Given the description of an element on the screen output the (x, y) to click on. 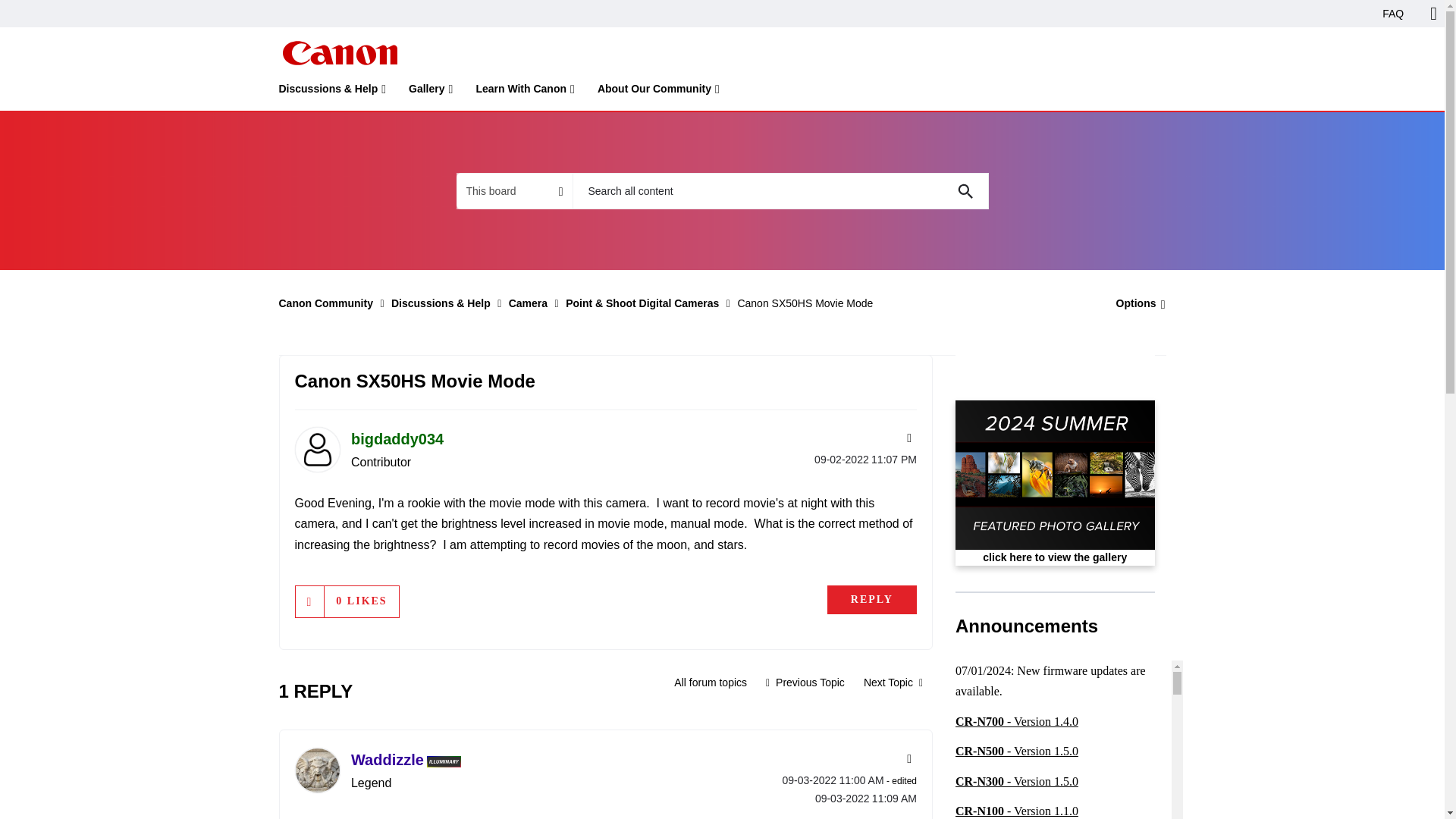
bigdaddy034 (316, 449)
About Our Community (657, 91)
The total number of likes this post has received. (360, 600)
Search (964, 190)
Canon Community (339, 53)
Learn With Canon (525, 91)
Search (964, 190)
Show option menu (1136, 303)
Search Granularity (514, 190)
Click here to give likes to this post. (309, 601)
Gallery (430, 91)
sx70hs blurry bat photos (893, 682)
Search (780, 190)
Search (964, 190)
FAQ (1393, 13)
